Given the description of an element on the screen output the (x, y) to click on. 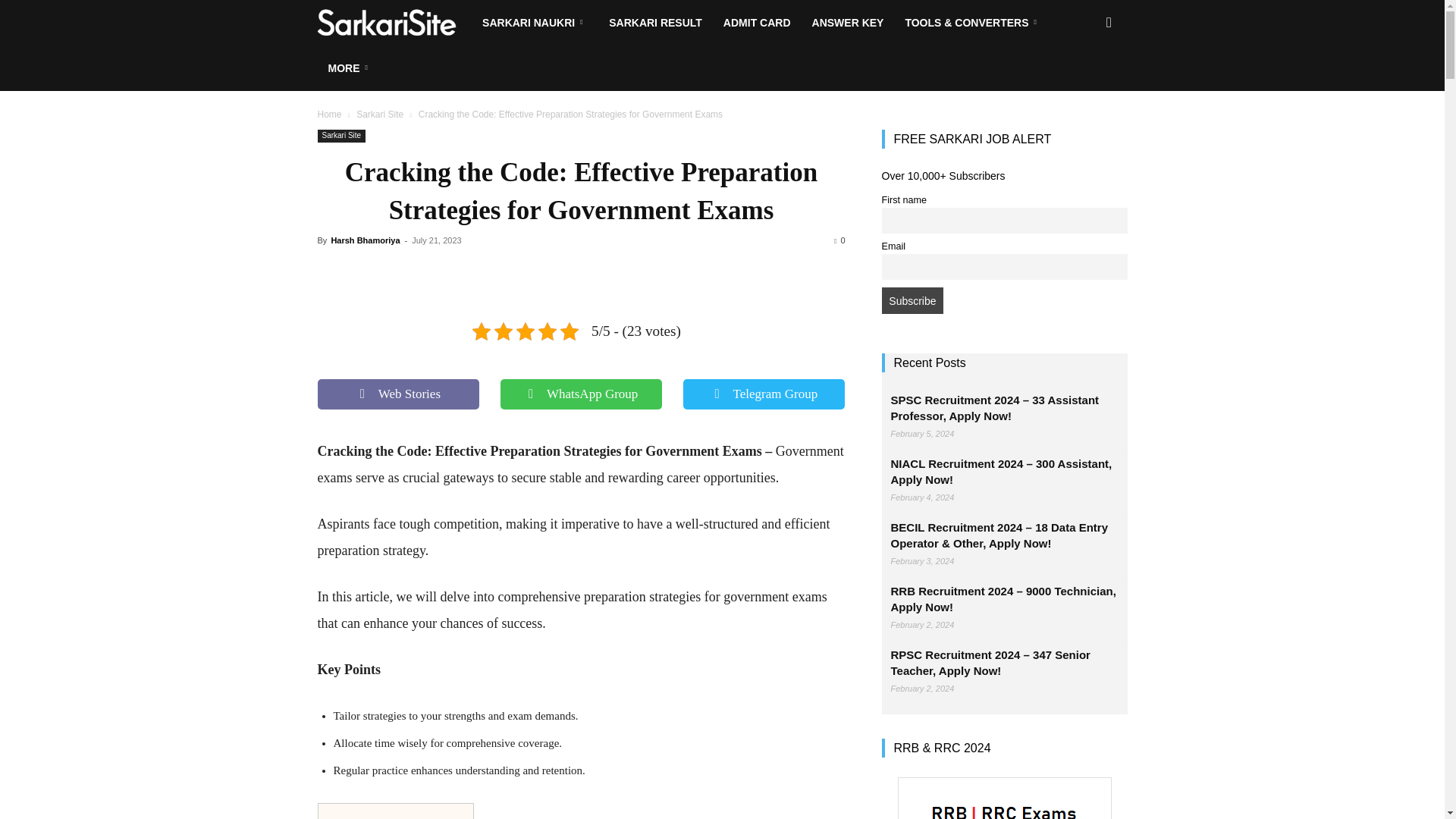
Subscribe (911, 300)
SARKARI RESULT (655, 22)
View all posts in Sarkari Site (379, 113)
SARKARI NAUKRI (534, 22)
ADMIT CARD (757, 22)
Sarkari Site (394, 22)
ANSWER KEY (848, 22)
